Given the description of an element on the screen output the (x, y) to click on. 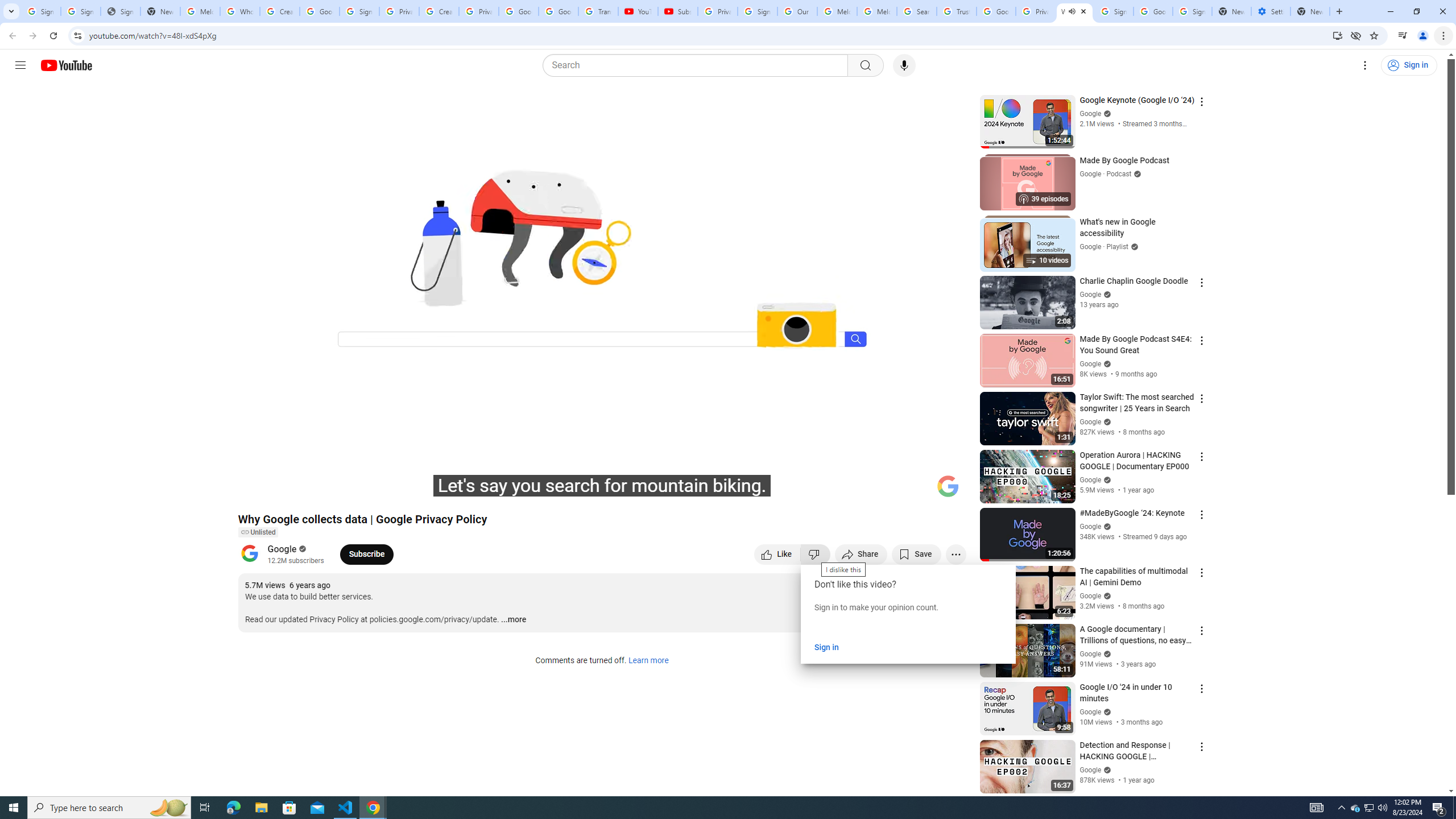
YouTube (637, 11)
Google Ads - Sign in (995, 11)
Mute (m) (312, 490)
